Given the description of an element on the screen output the (x, y) to click on. 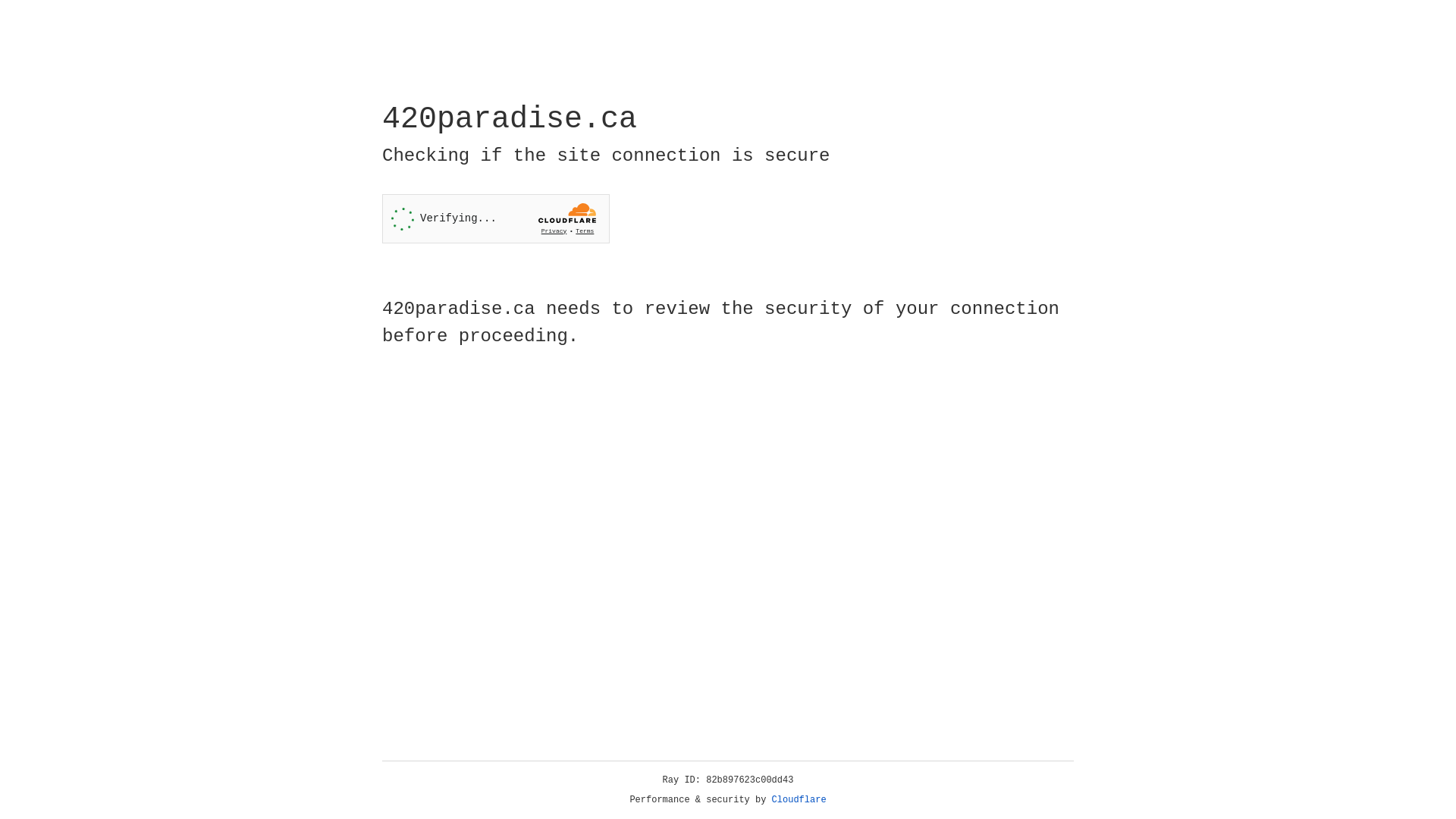
Cloudflare Element type: text (798, 799)
Widget containing a Cloudflare security challenge Element type: hover (495, 218)
